Given the description of an element on the screen output the (x, y) to click on. 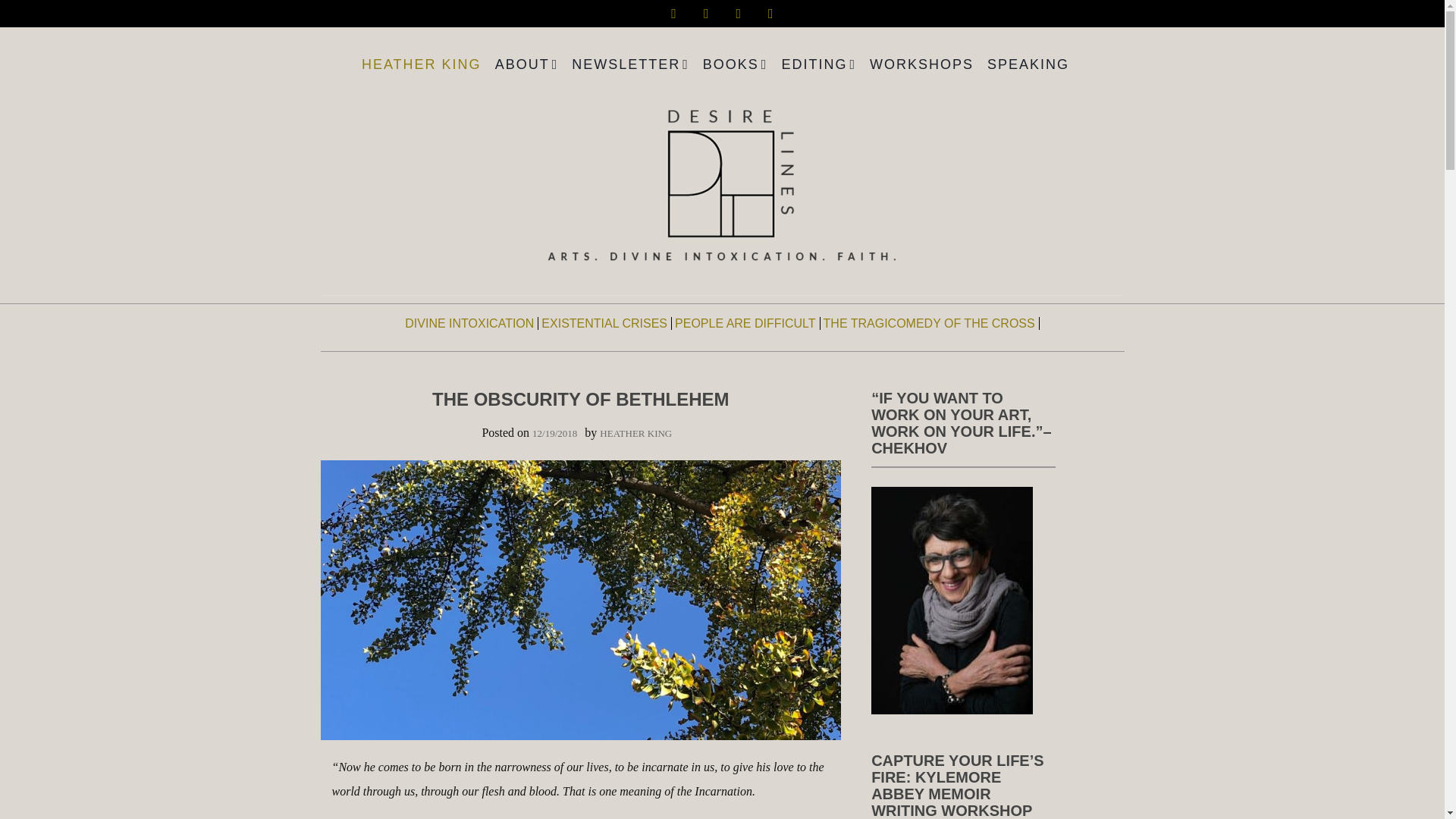
SPEAKING (1027, 64)
BOOKS (735, 64)
BOOKS (735, 64)
HEATHER KING (421, 64)
EXISTENTIAL CRISES (603, 323)
THE TRAGICOMEDY OF THE CROSS (929, 323)
HEATHER KING (421, 64)
ABOUT (527, 64)
ABOUT (527, 64)
HEATHER KING (635, 432)
